Given the description of an element on the screen output the (x, y) to click on. 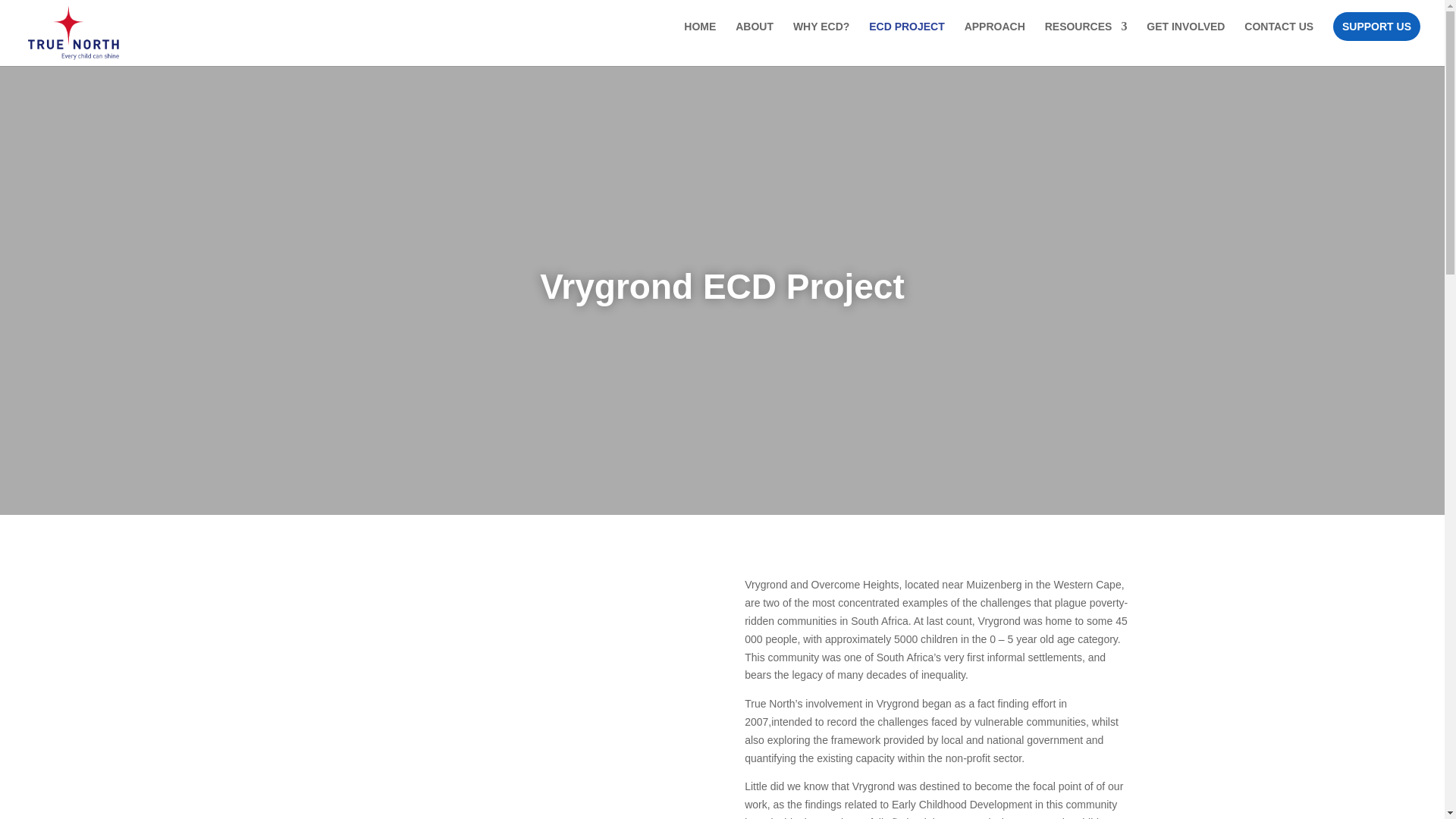
CONTACT US (1278, 43)
GET INVOLVED (1185, 43)
APPROACH (994, 43)
RESOURCES (1085, 43)
HOME (700, 43)
SUPPORT US (1377, 26)
WHY ECD? (820, 43)
ECD PROJECT (906, 43)
ABOUT (754, 43)
